Given the description of an element on the screen output the (x, y) to click on. 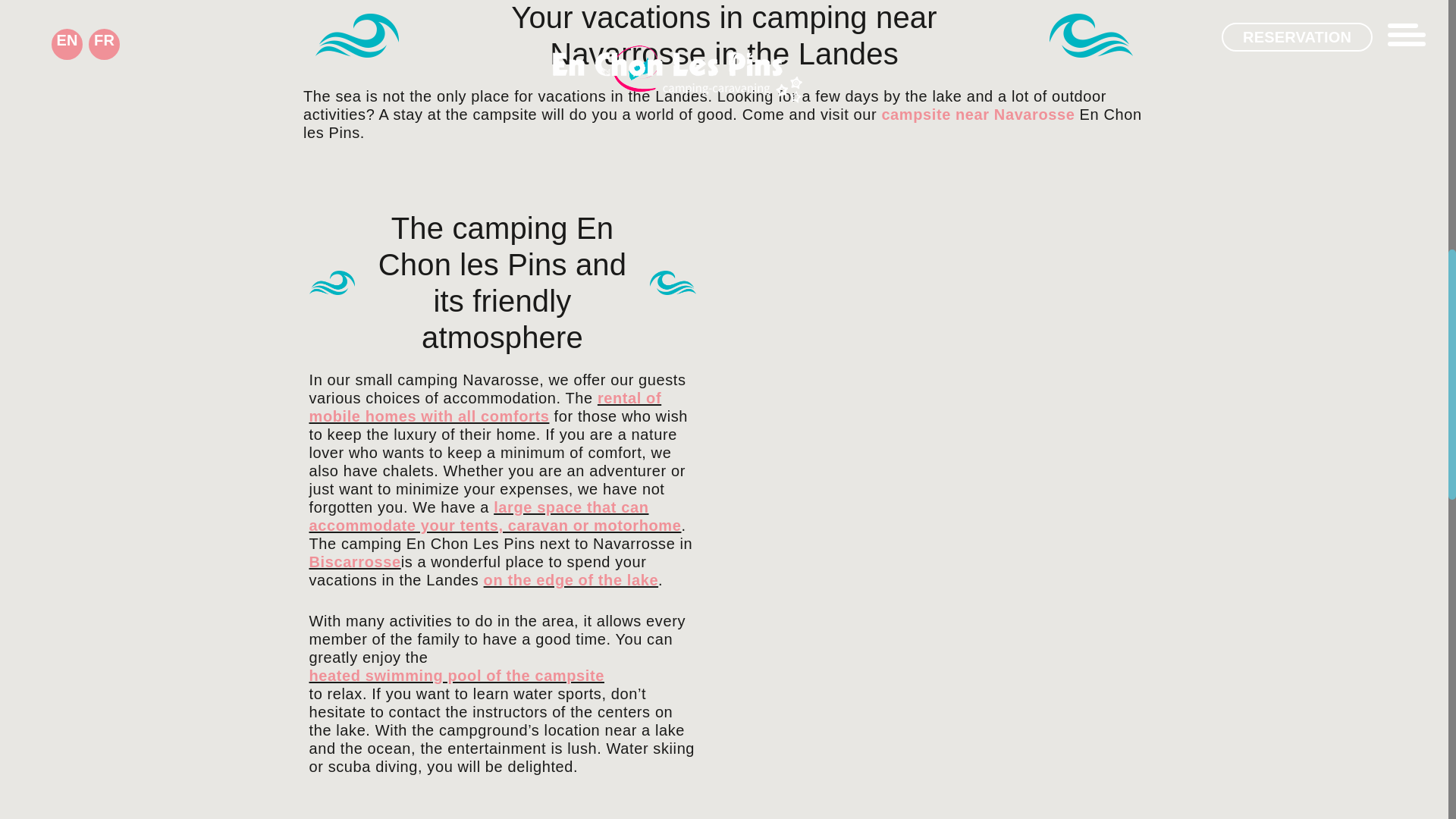
rental of mobile homes with all comforts (485, 407)
